Given the description of an element on the screen output the (x, y) to click on. 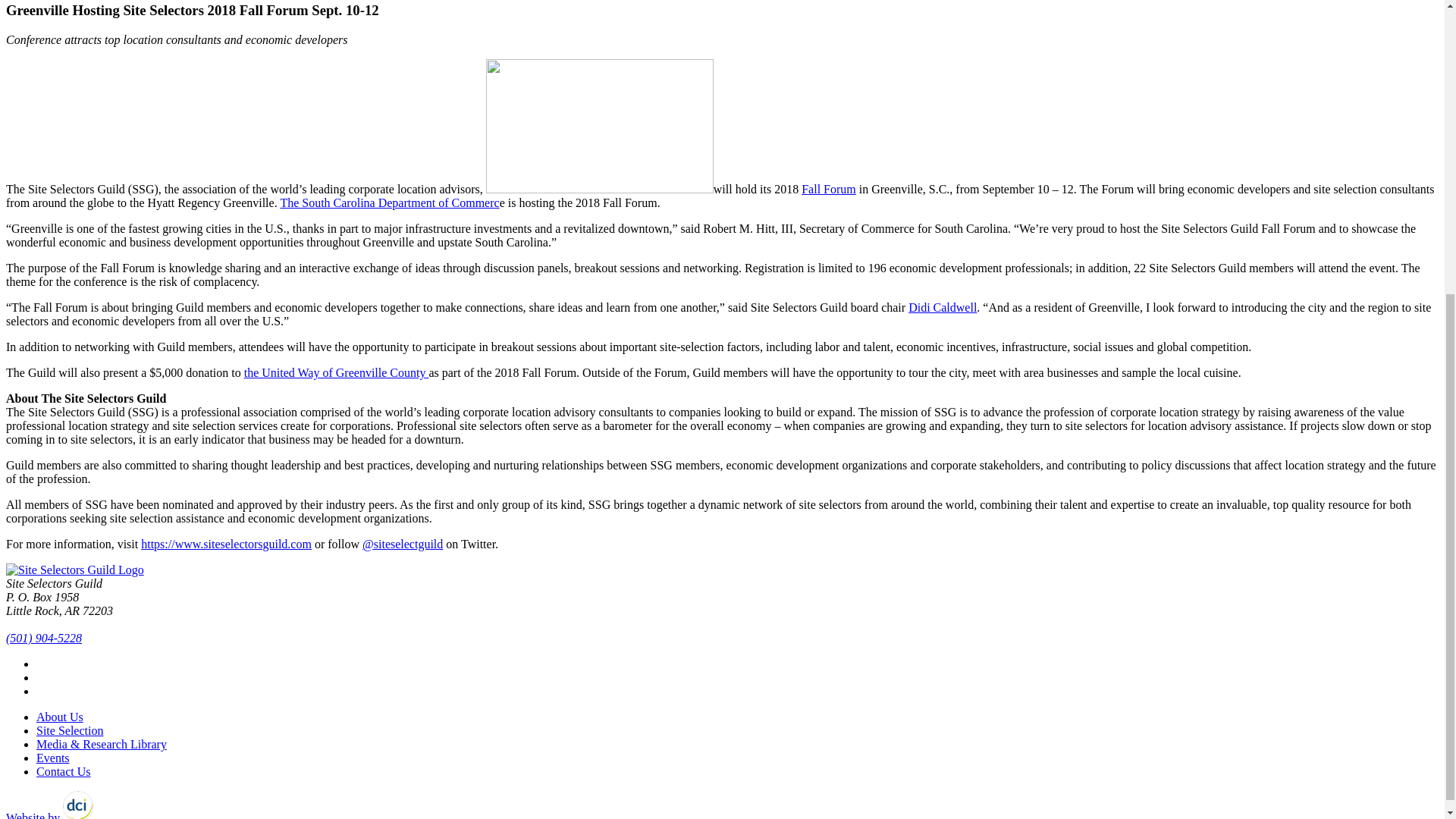
About Us (59, 716)
Contact Us (63, 771)
The South Carolina Department of Commerc (389, 202)
Fall Forum (829, 188)
the United Way of Greenville County  (336, 372)
Events (52, 757)
Site Selection (69, 730)
Didi Caldwell (942, 307)
